Given the description of an element on the screen output the (x, y) to click on. 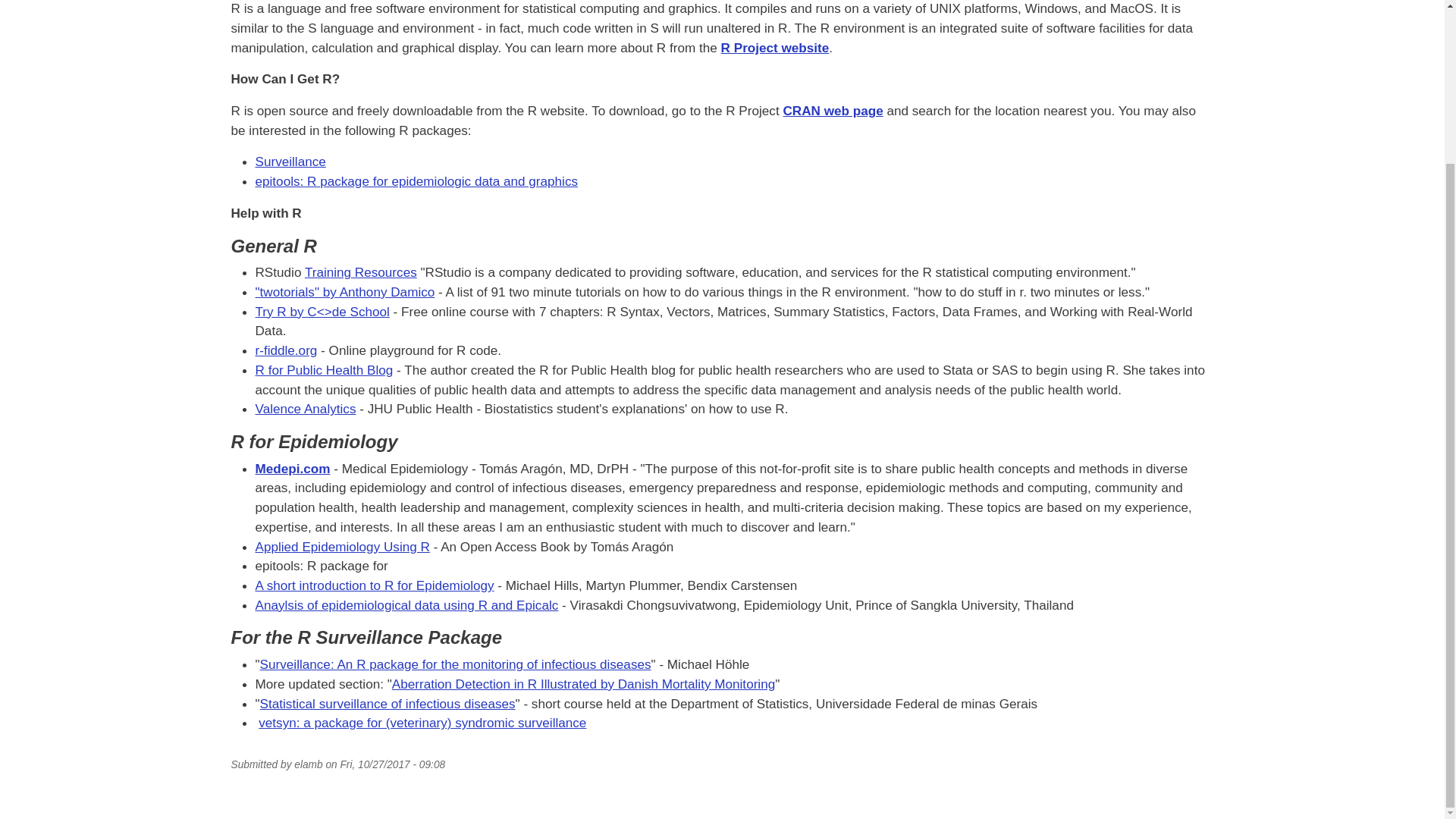
"twotorials" by Anthony Damico (343, 291)
R Project website (774, 47)
A short introduction to R for Epidemiology (373, 585)
Valence Analytics (304, 408)
Surveillance (289, 160)
epitools: R package for epidemiologic data and graphics (416, 181)
Friday, October 27, 2017 - 09:08 (392, 764)
Anaylsis of epidemiological data using R and Epicalc (405, 604)
R for Public Health Blog (323, 369)
Training Resources (360, 272)
Applied Epidemiology Using R (341, 546)
Statistical surveillance of infectious diseases (387, 703)
CRAN web page (832, 110)
